Given the description of an element on the screen output the (x, y) to click on. 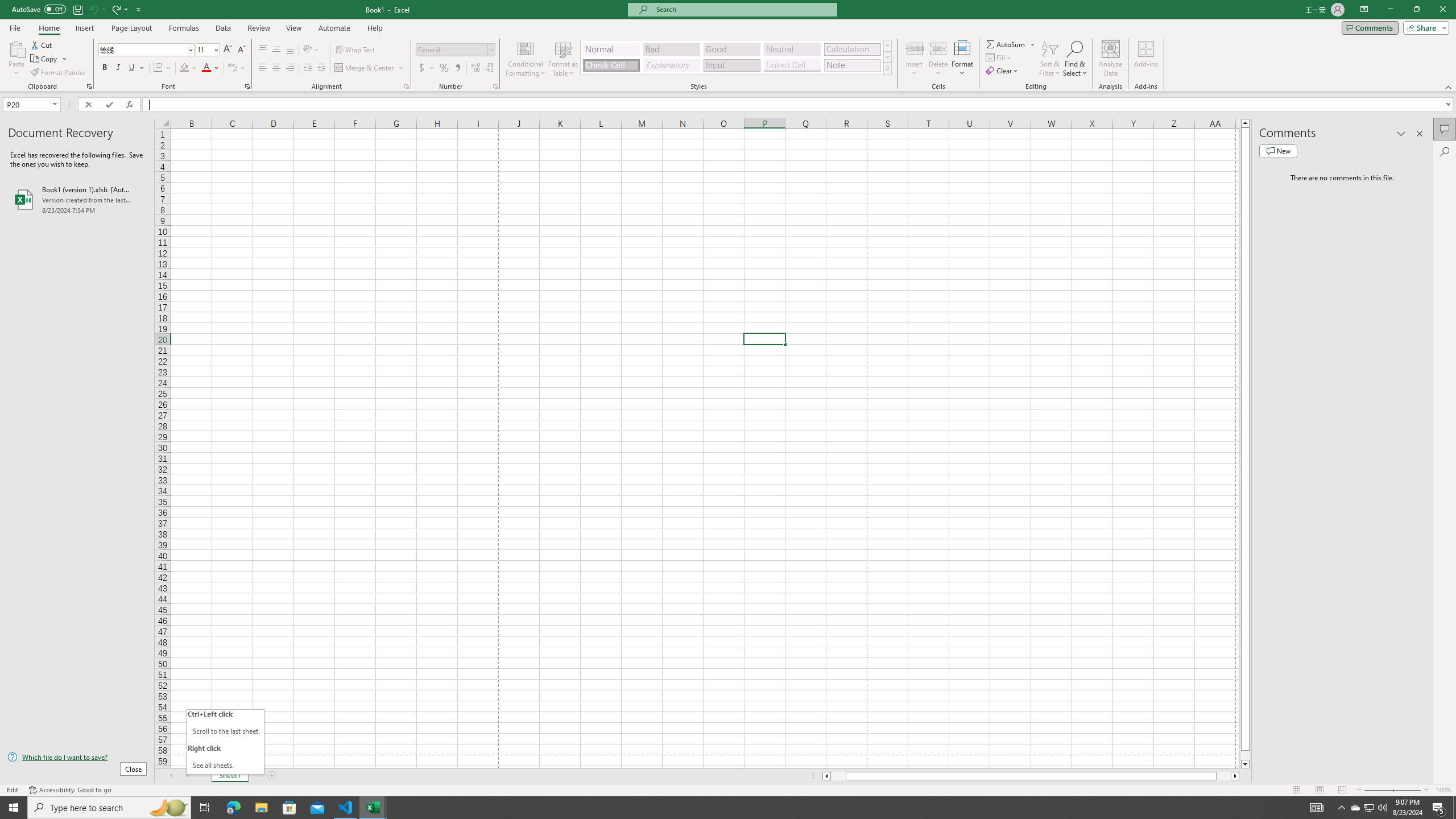
Show Phonetic Field (231, 67)
Comma Style (457, 67)
Wrap Text (355, 49)
Increase Decimal (474, 67)
Align Right (290, 67)
Paste (16, 48)
New comment (1278, 151)
Sum (1006, 44)
Fill Color (188, 67)
